Given the description of an element on the screen output the (x, y) to click on. 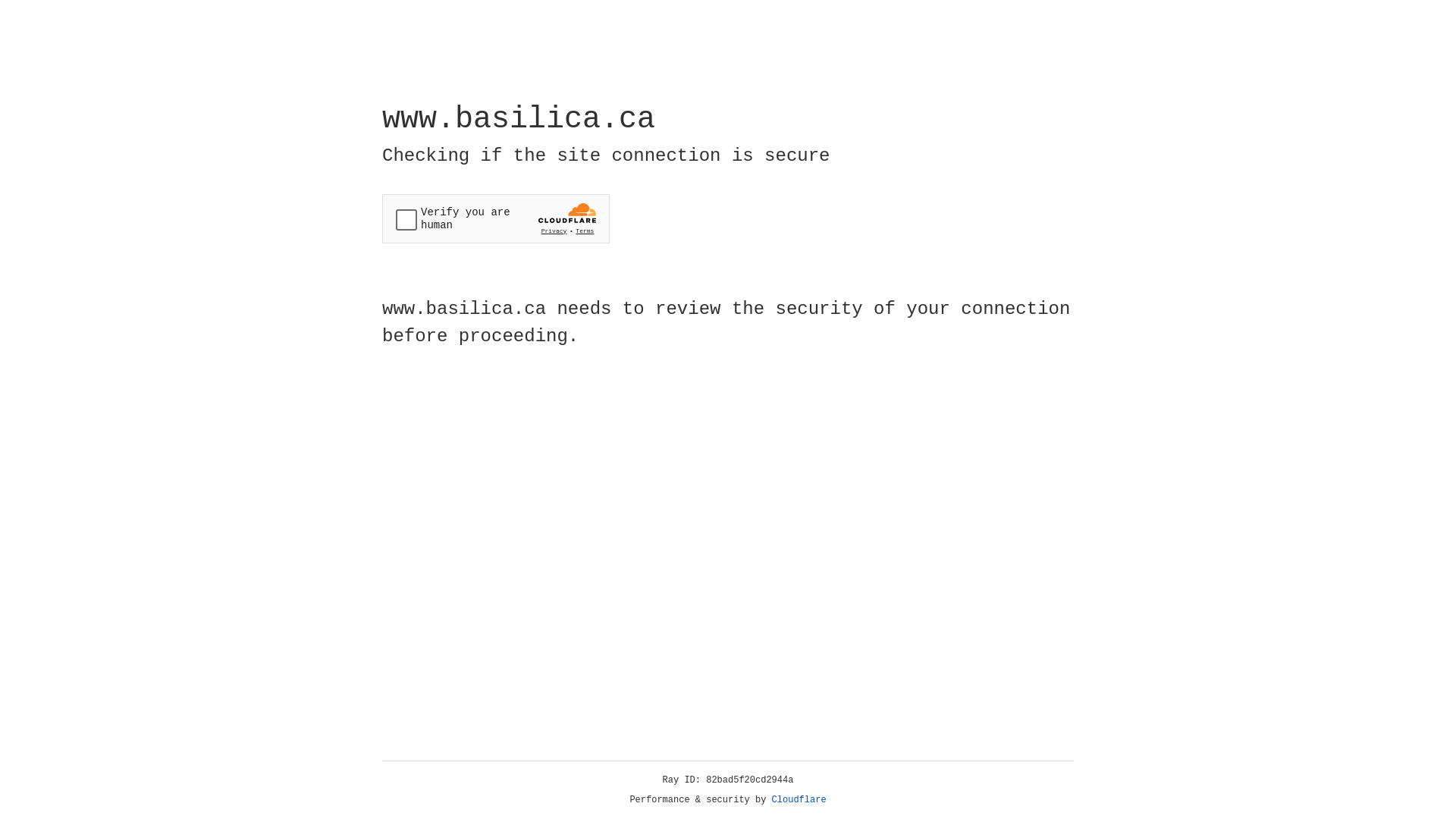
Cloudflare Element type: text (798, 799)
Widget containing a Cloudflare security challenge Element type: hover (495, 218)
